Given the description of an element on the screen output the (x, y) to click on. 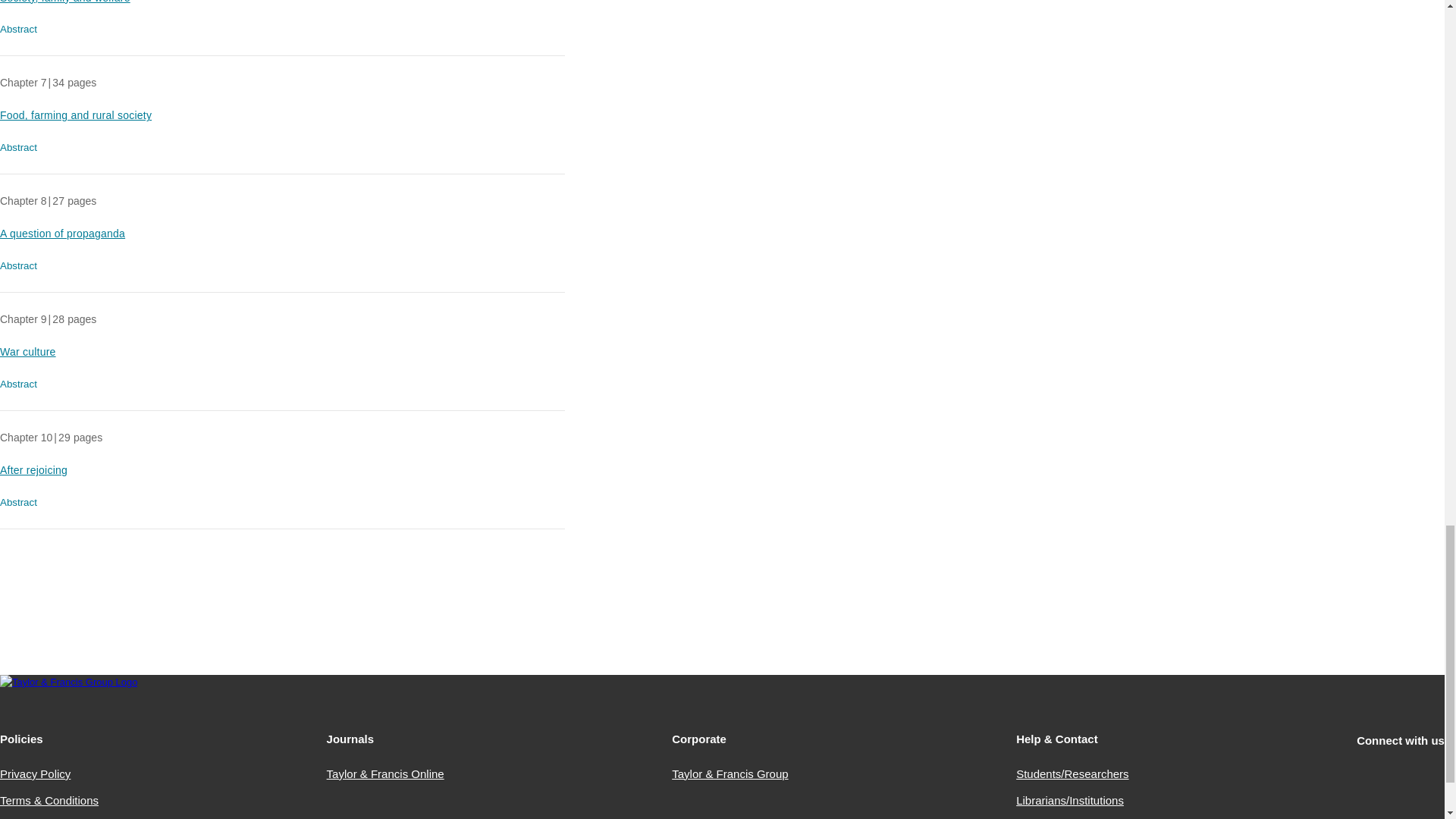
War culture (28, 351)
Food, farming and rural society (75, 114)
Abstract (21, 264)
Abstract (21, 146)
Abstract (21, 28)
Privacy Policy (34, 774)
Abstract (21, 383)
After rejoicing (33, 469)
Abstract (21, 501)
A question of propaganda (62, 233)
